Given the description of an element on the screen output the (x, y) to click on. 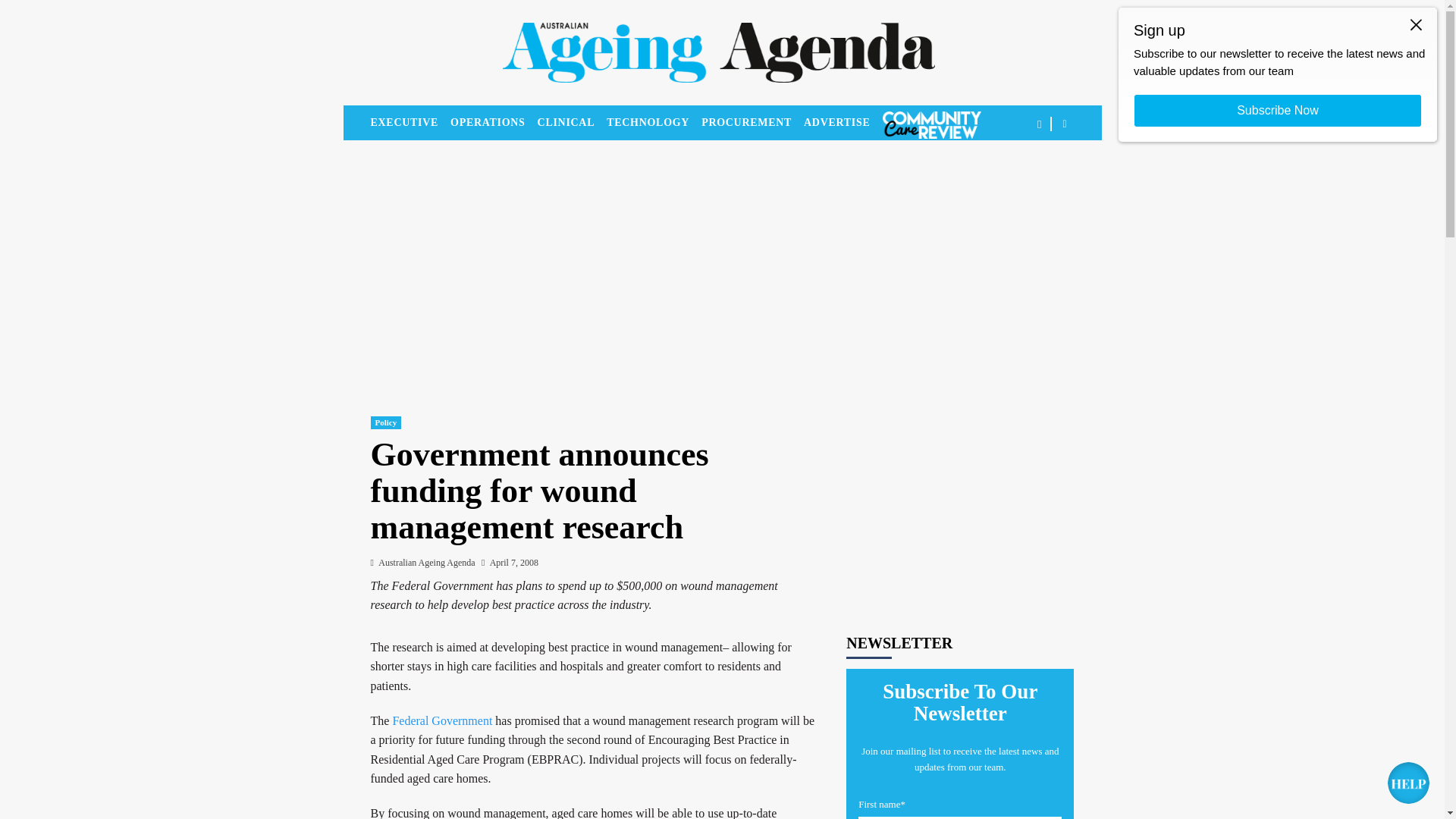
COMMUNITY CARE REVIEW (931, 124)
ADVERTISE (842, 122)
PROCUREMENT (752, 122)
CLINICAL (572, 122)
Policy (385, 422)
Federal Government (441, 720)
EXECUTIVE (409, 122)
3rd party ad content (959, 495)
TECHNOLOGY (654, 122)
April 7, 2008 (513, 562)
Search (1028, 170)
OPERATIONS (493, 122)
Australian Ageing Agenda (426, 562)
